Given the description of an element on the screen output the (x, y) to click on. 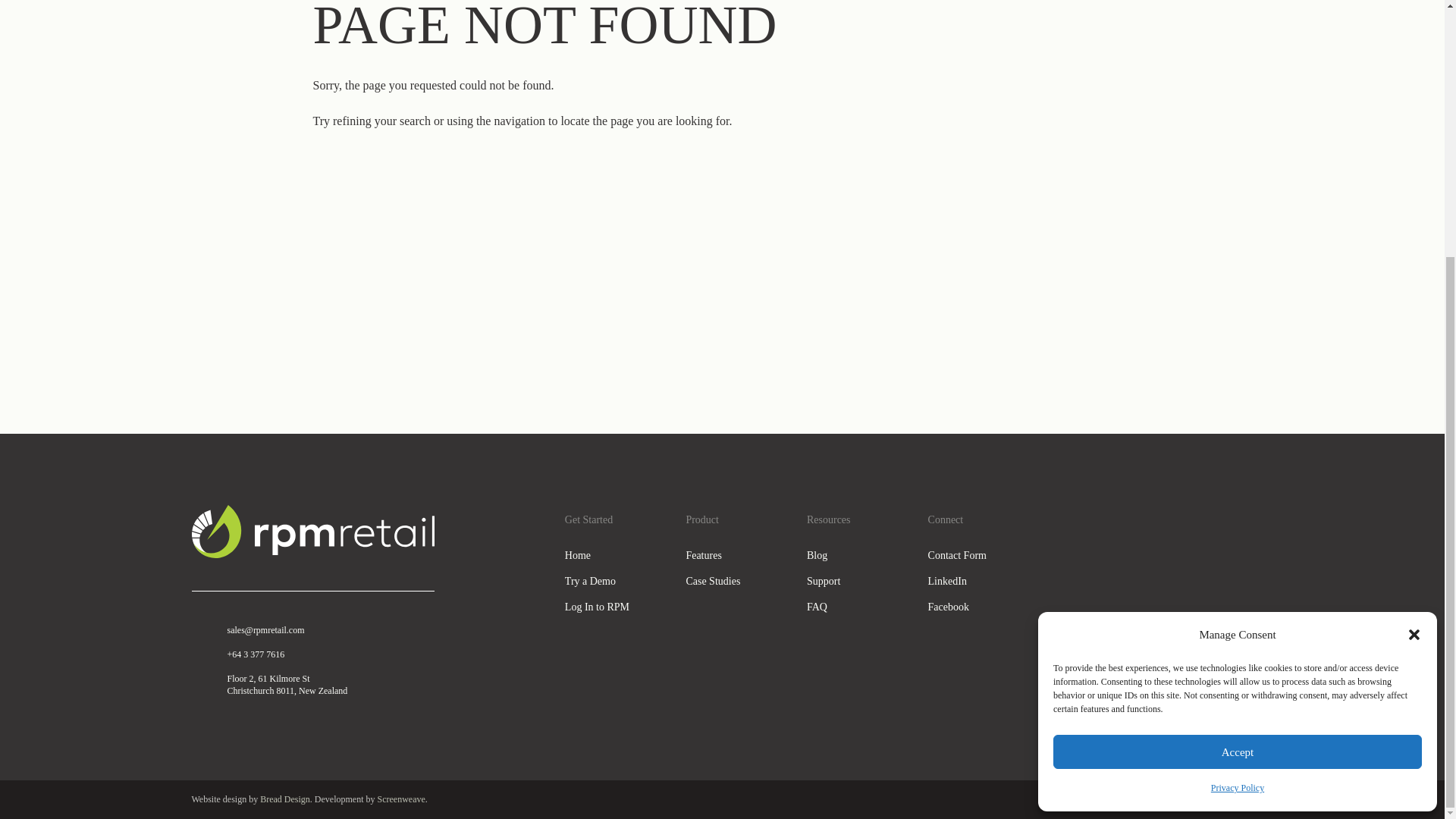
RPM Privacy Policy (1136, 798)
Bread Design (285, 798)
Bread Design website (285, 798)
Screenweave website (401, 798)
Screenweave (401, 798)
Accept (1237, 386)
Privacy Policy (1237, 422)
RPM Terms of Use (1216, 798)
